Given the description of an element on the screen output the (x, y) to click on. 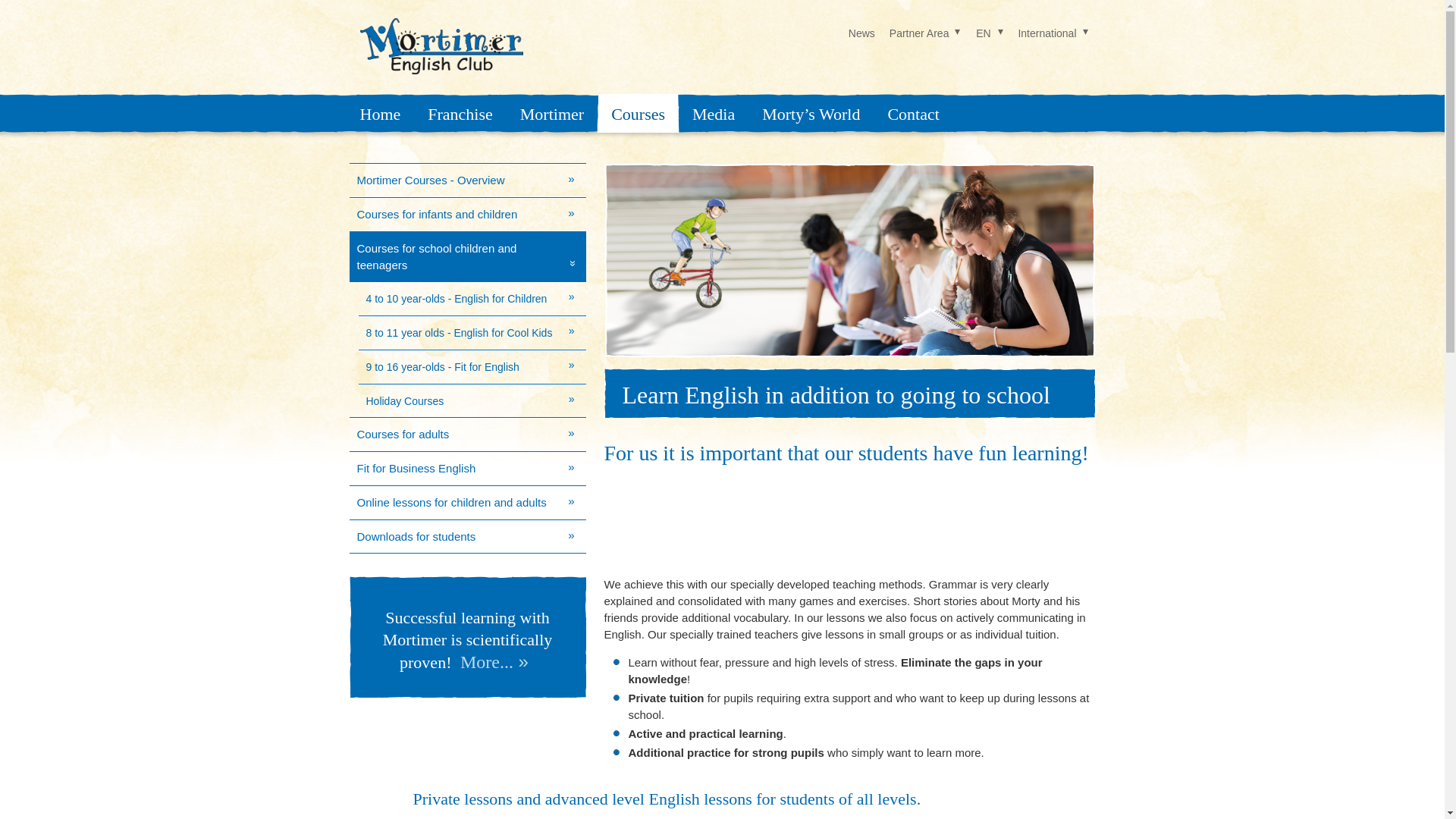
Media (713, 113)
EN (989, 33)
News (861, 33)
Courses for school children and teenagers (467, 256)
Partner Area (925, 33)
Home (379, 113)
8 to 11 year olds - English for Cool Kids (471, 332)
Contact (912, 113)
Courses (637, 113)
Mortimer Courses - Overview (467, 180)
